Given the description of an element on the screen output the (x, y) to click on. 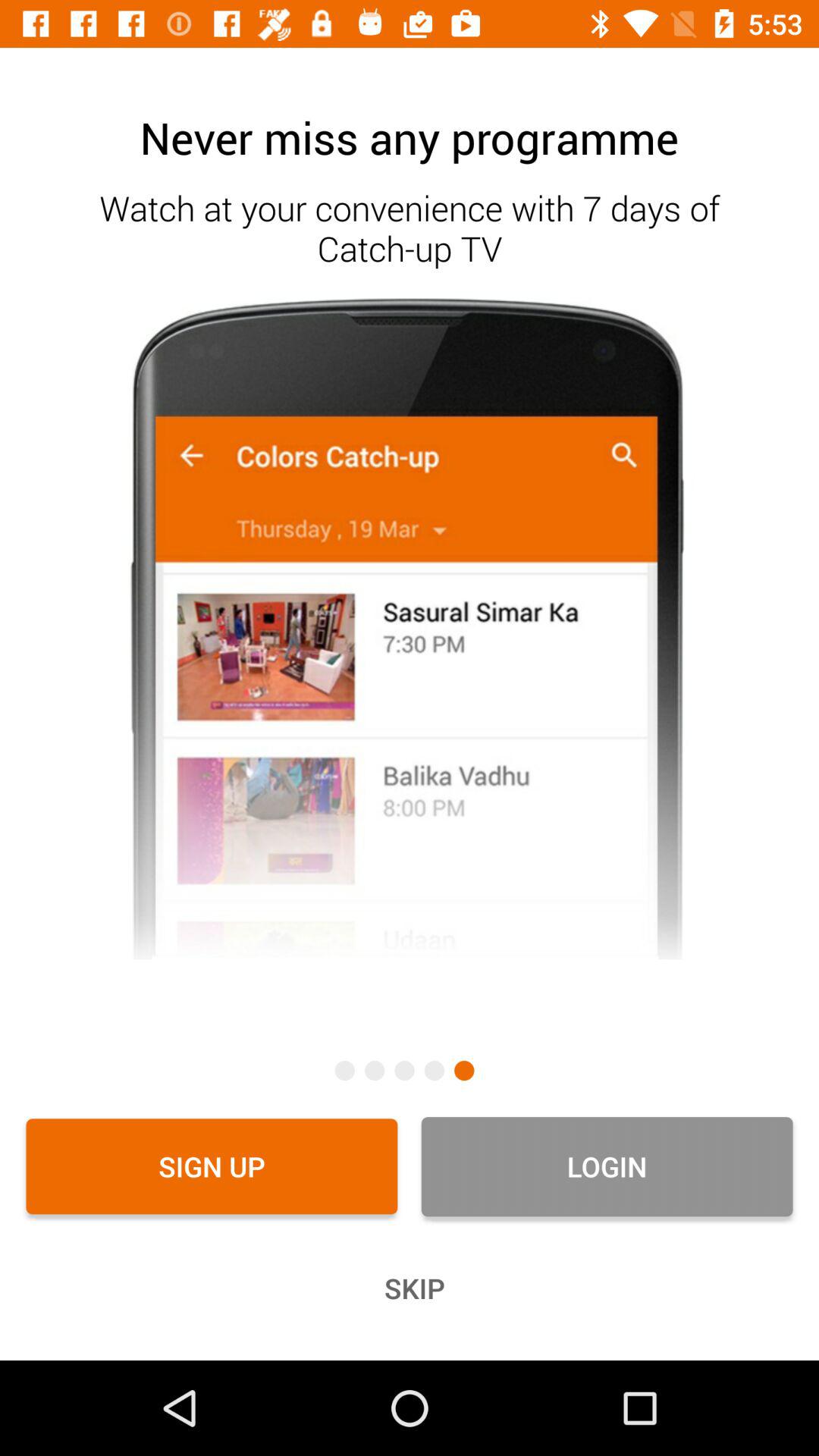
turn on icon above skip icon (606, 1166)
